Given the description of an element on the screen output the (x, y) to click on. 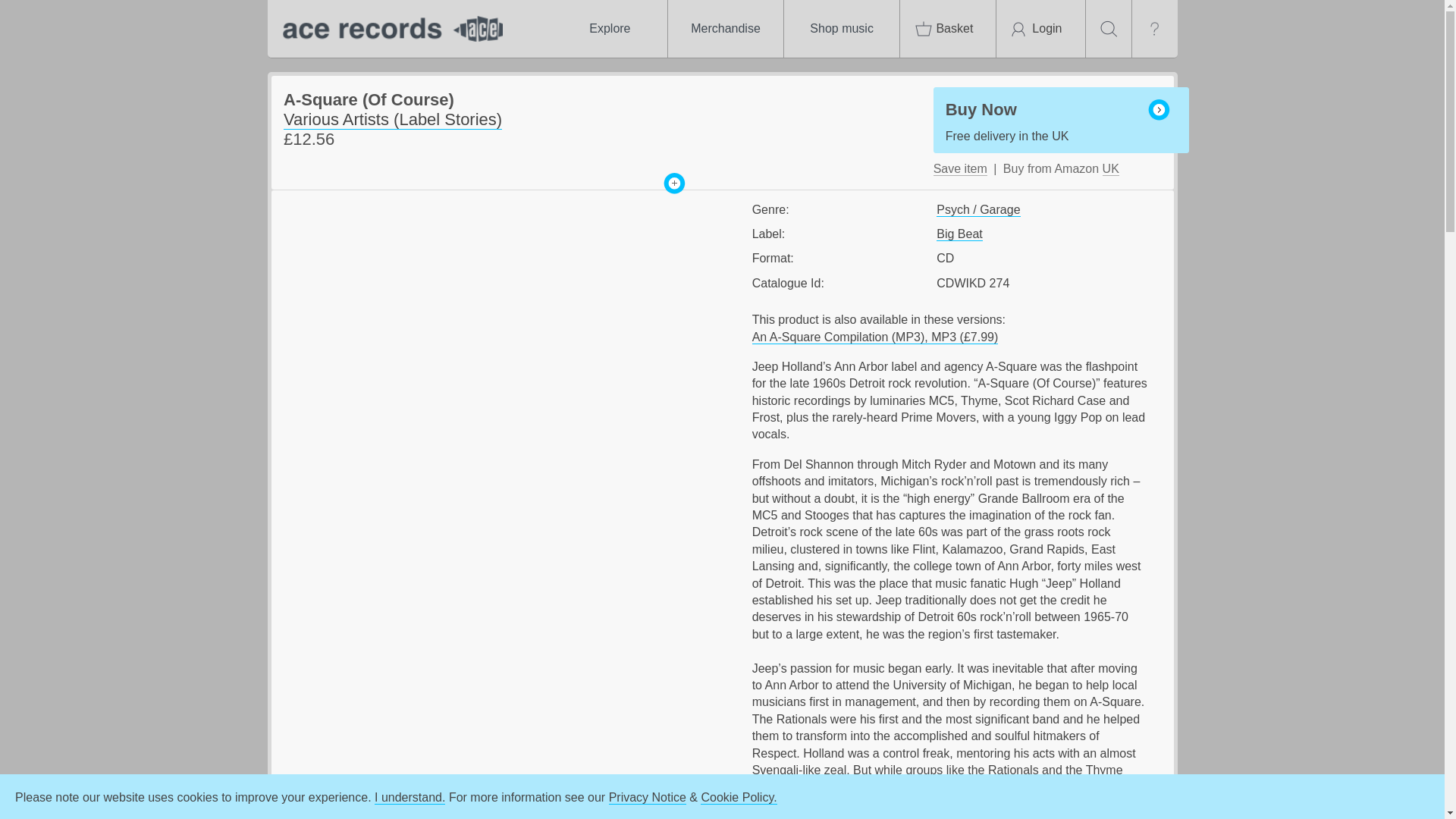
Shop music (841, 28)
Login (1039, 28)
Ace Records (388, 28)
Basket (947, 28)
Save item (960, 169)
Big Beat (958, 233)
Explore (609, 28)
UK (1110, 169)
Merchandise (725, 28)
